Given the description of an element on the screen output the (x, y) to click on. 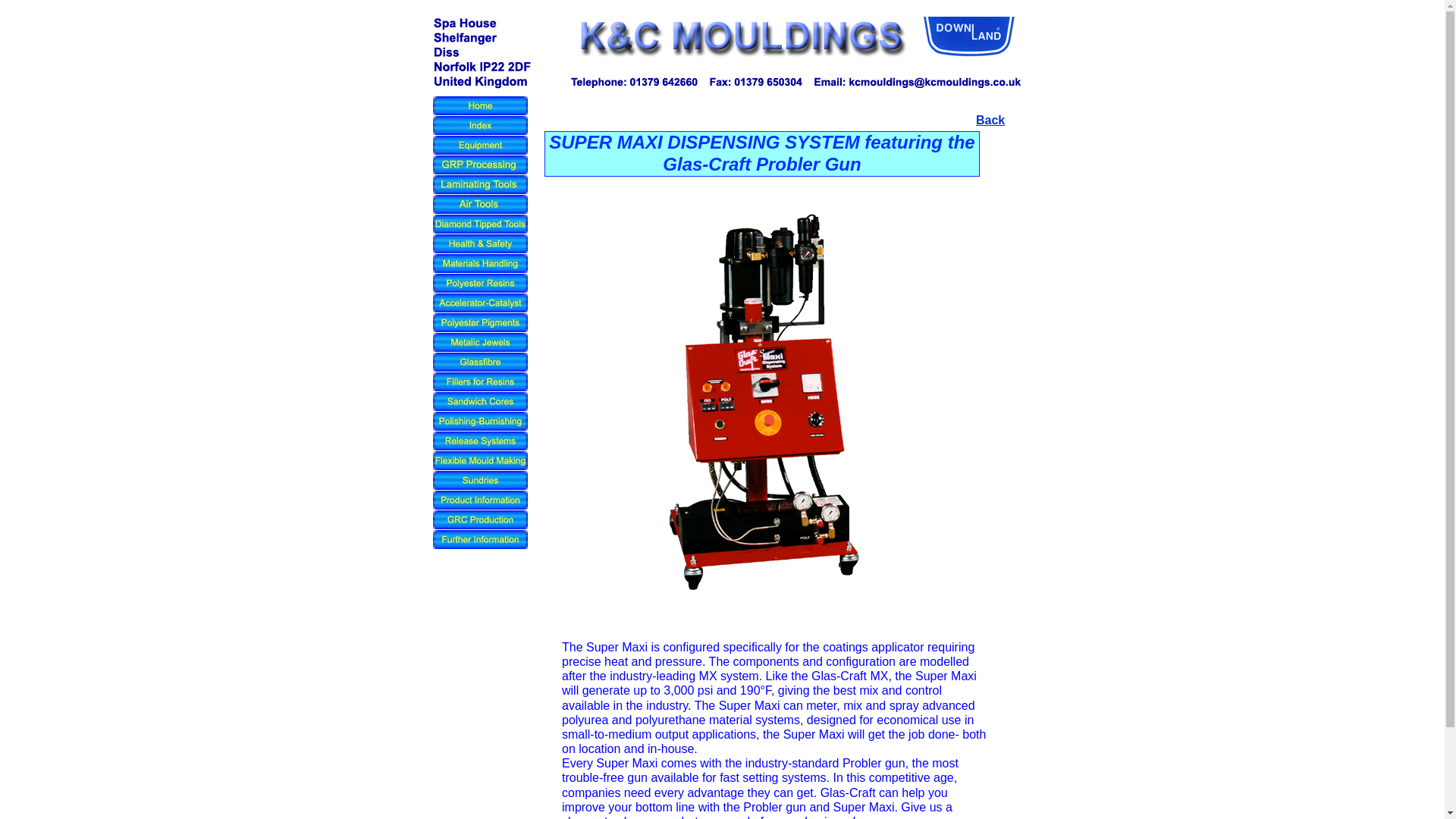
addressb (482, 52)
Back (989, 119)
tel03 (794, 81)
downlandLogoSS (968, 37)
title02 (743, 39)
